Given the description of an element on the screen output the (x, y) to click on. 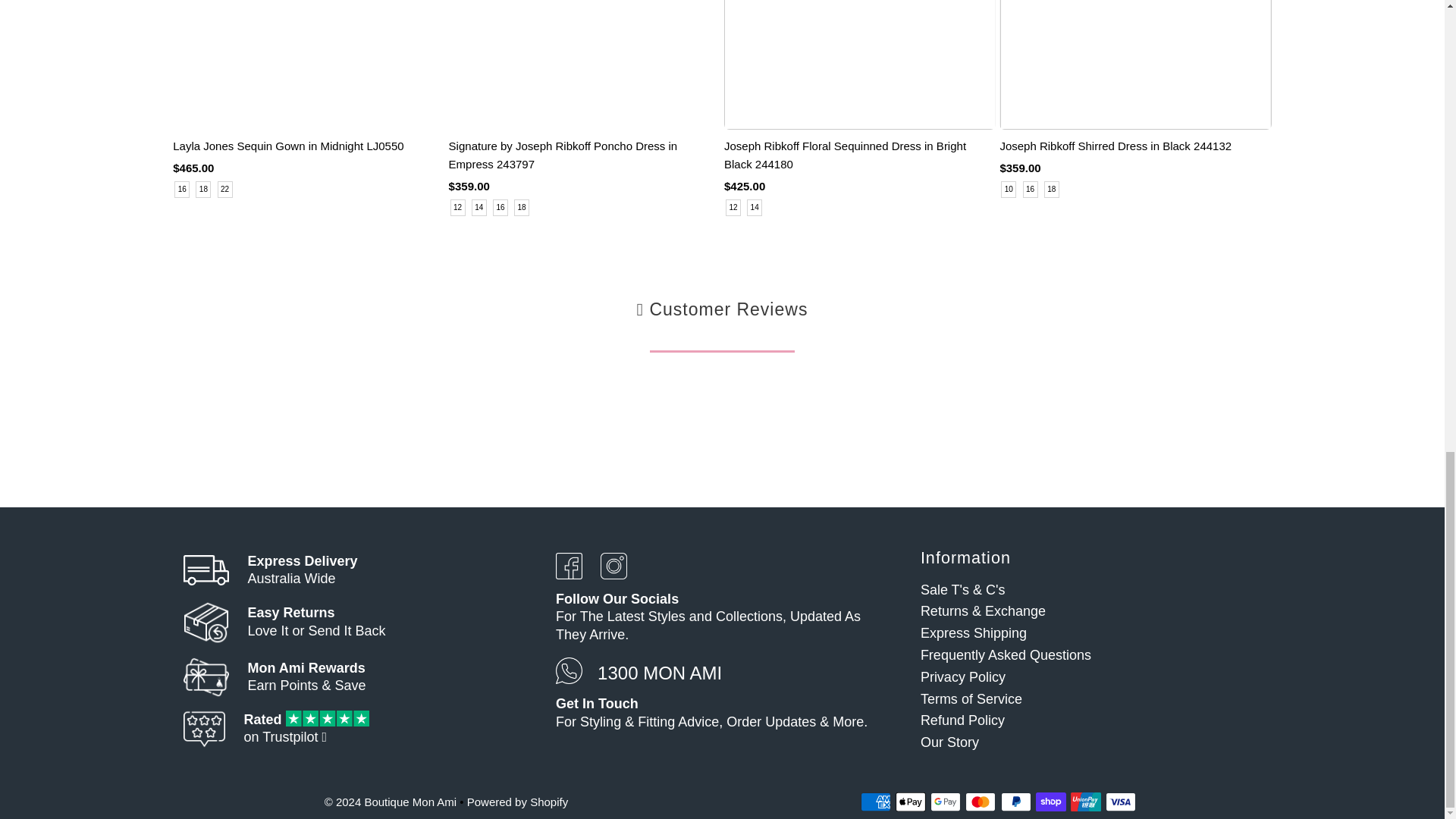
PayPal (1015, 801)
Google Pay (945, 801)
Mastercard (980, 801)
American Express (875, 801)
Shop Pay (1050, 801)
Apple Pay (910, 801)
